Given the description of an element on the screen output the (x, y) to click on. 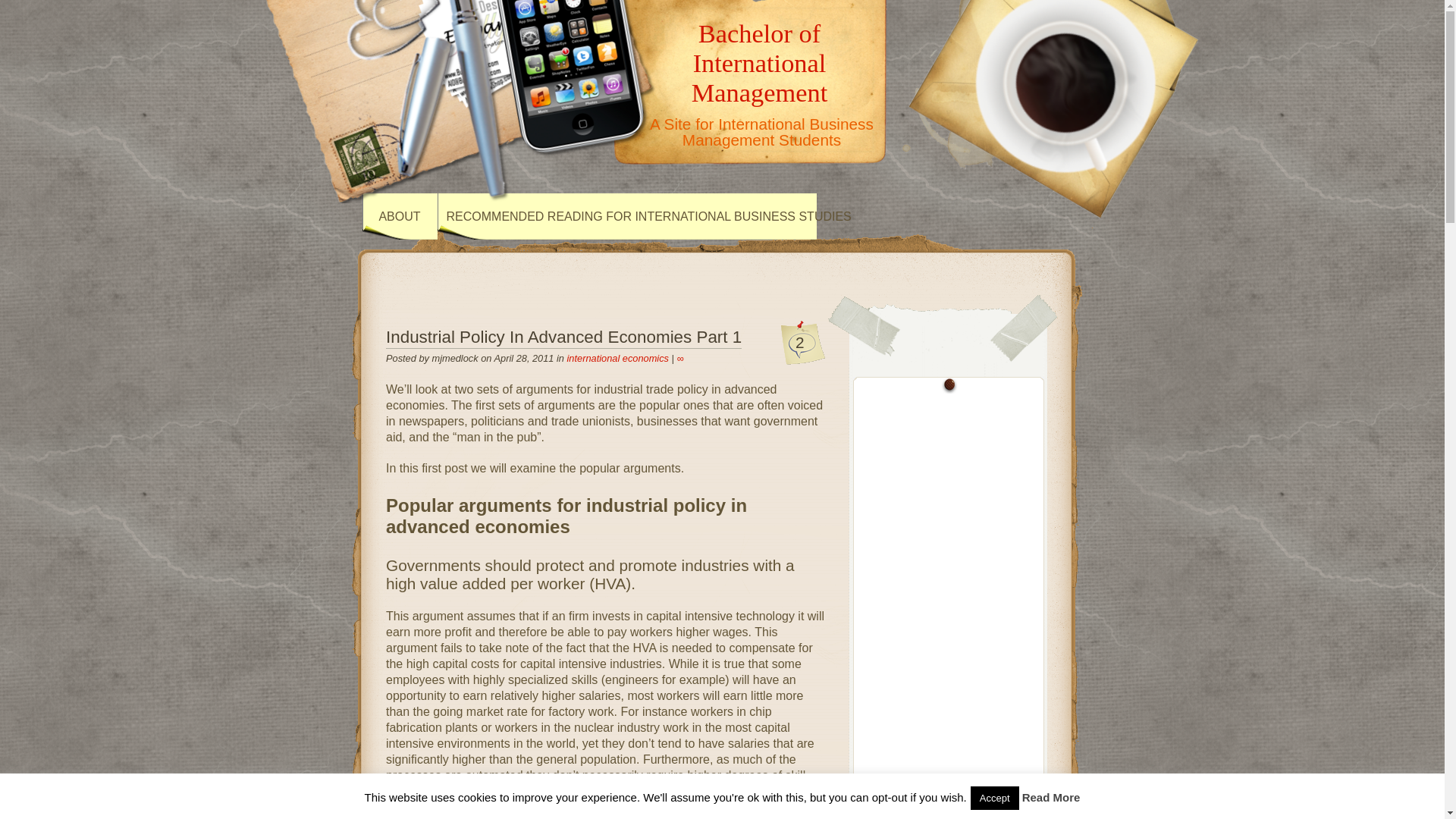
Bachelor of International Management (759, 62)
RECOMMENDED READING FOR INTERNATIONAL BUSINESS STUDIES (648, 216)
Bachelor of International Management (759, 62)
2 (799, 342)
ABOUT (400, 216)
Read More (1051, 797)
Accept (995, 797)
Industrial Policy In Advanced Economies Part 1 (563, 337)
Industrial Policy In Advanced Economies Part 1 (679, 357)
international economics (617, 357)
